Given the description of an element on the screen output the (x, y) to click on. 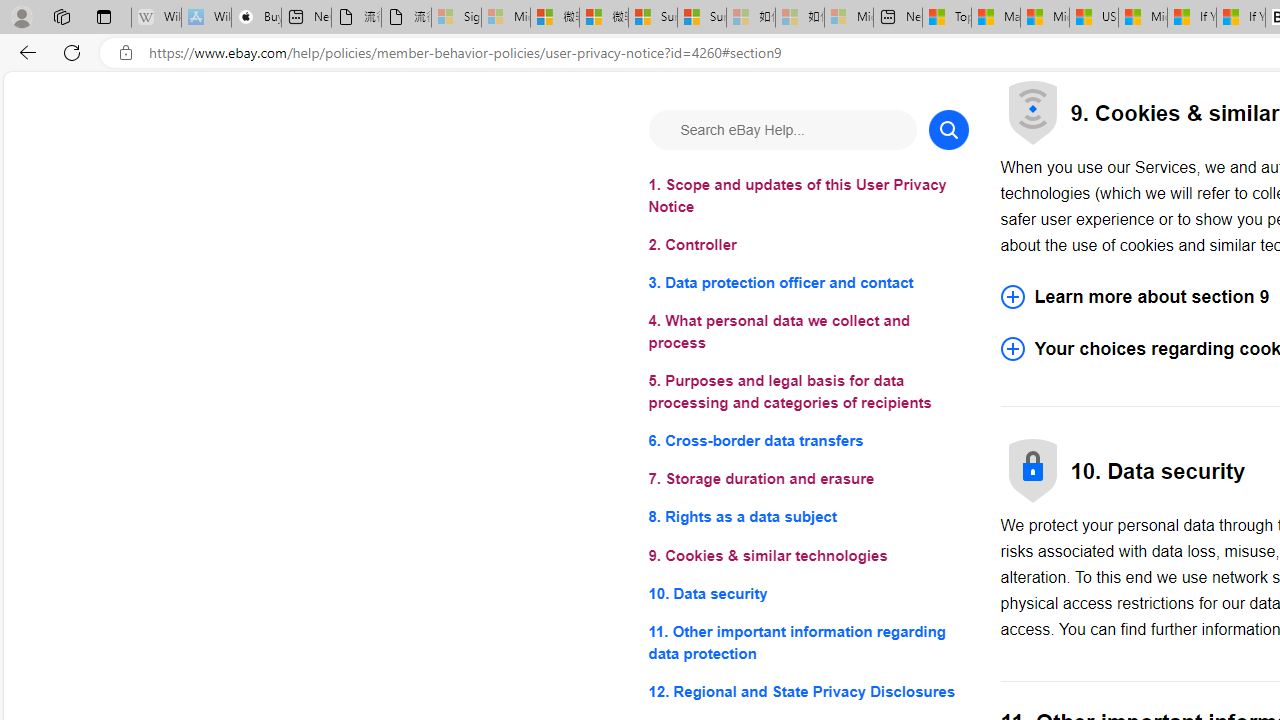
12. Regional and State Privacy Disclosures (807, 690)
4. What personal data we collect and process (807, 332)
3. Data protection officer and contact (807, 283)
2. Controller (807, 245)
11. Other important information regarding data protection (807, 642)
3. Data protection officer and contact (807, 283)
Search eBay Help... (781, 129)
7. Storage duration and erasure (807, 479)
10. Data security (807, 592)
